Given the description of an element on the screen output the (x, y) to click on. 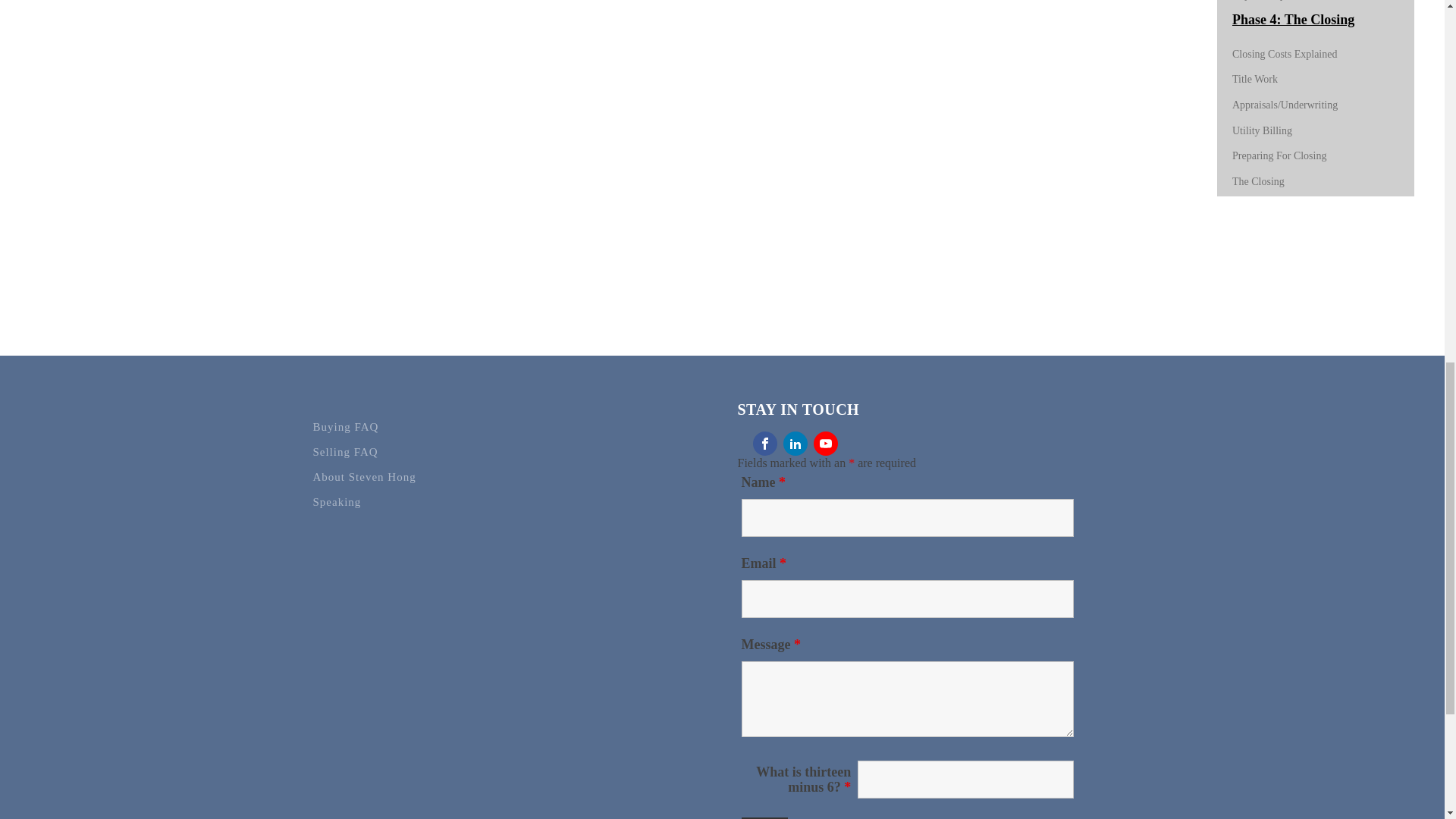
Title Work (1254, 79)
Send (764, 818)
Closing Costs Explained (1283, 53)
